Given the description of an element on the screen output the (x, y) to click on. 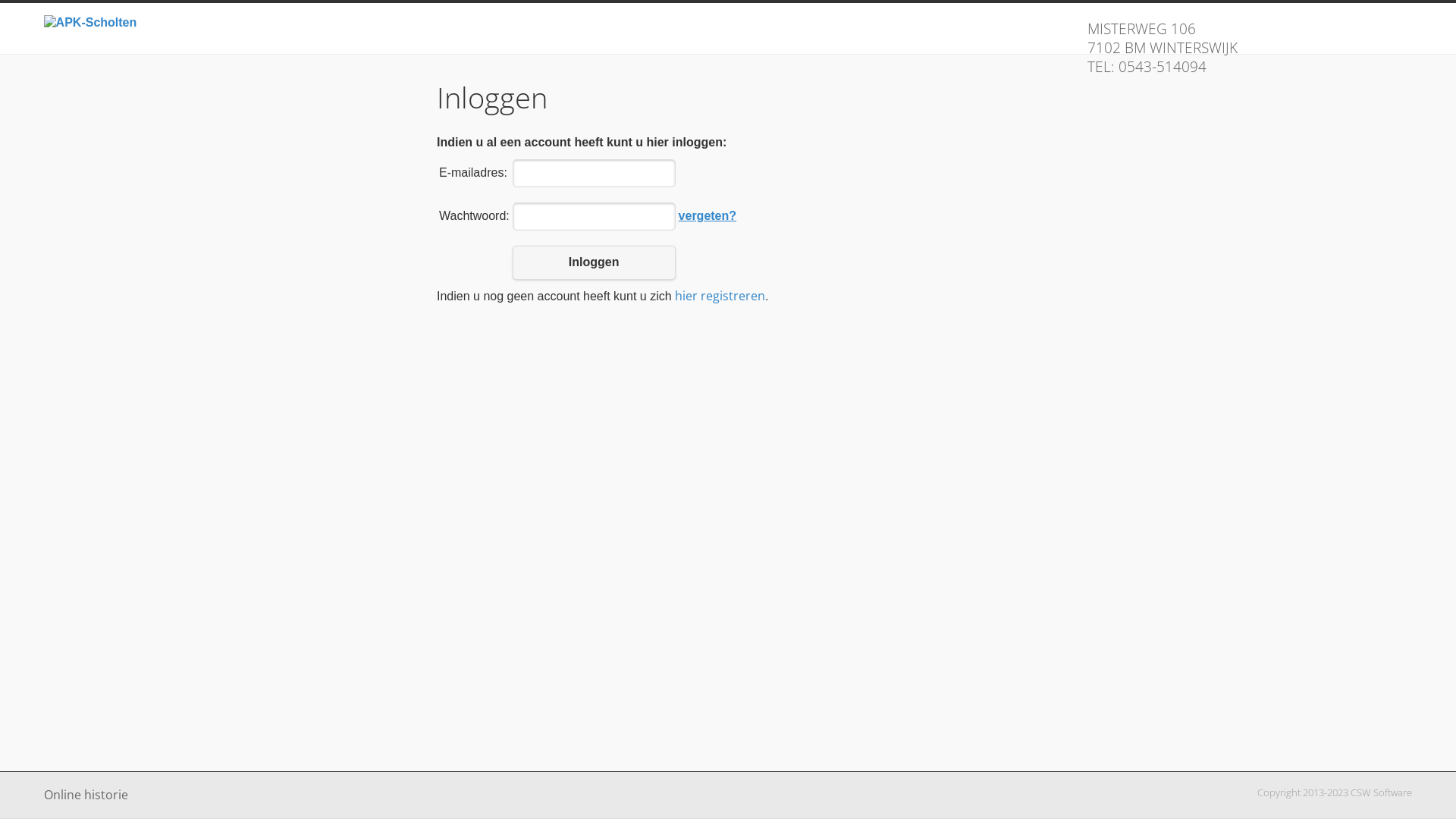
vergeten? Element type: text (707, 215)
hier registreren Element type: text (719, 295)
Inloggen Element type: text (593, 262)
